Given the description of an element on the screen output the (x, y) to click on. 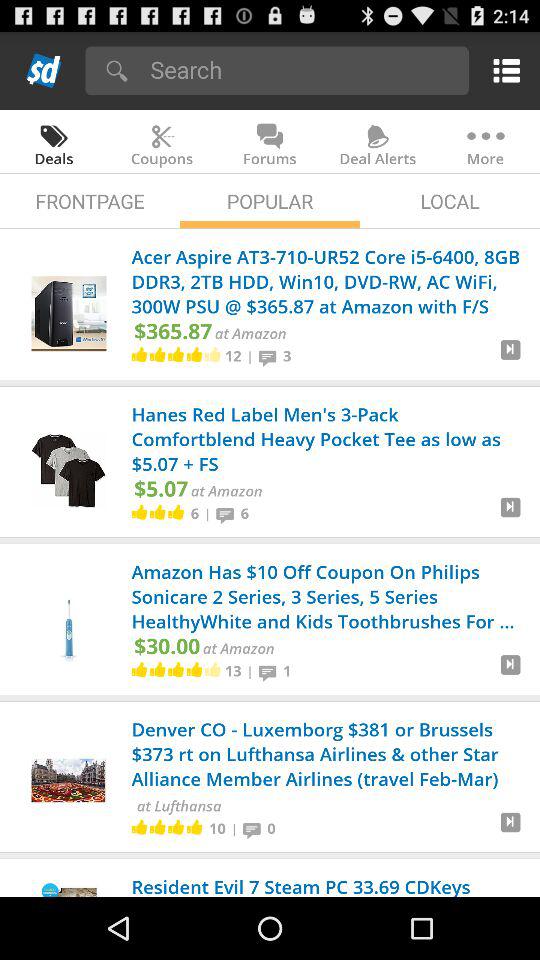
main home screen (44, 70)
